Given the description of an element on the screen output the (x, y) to click on. 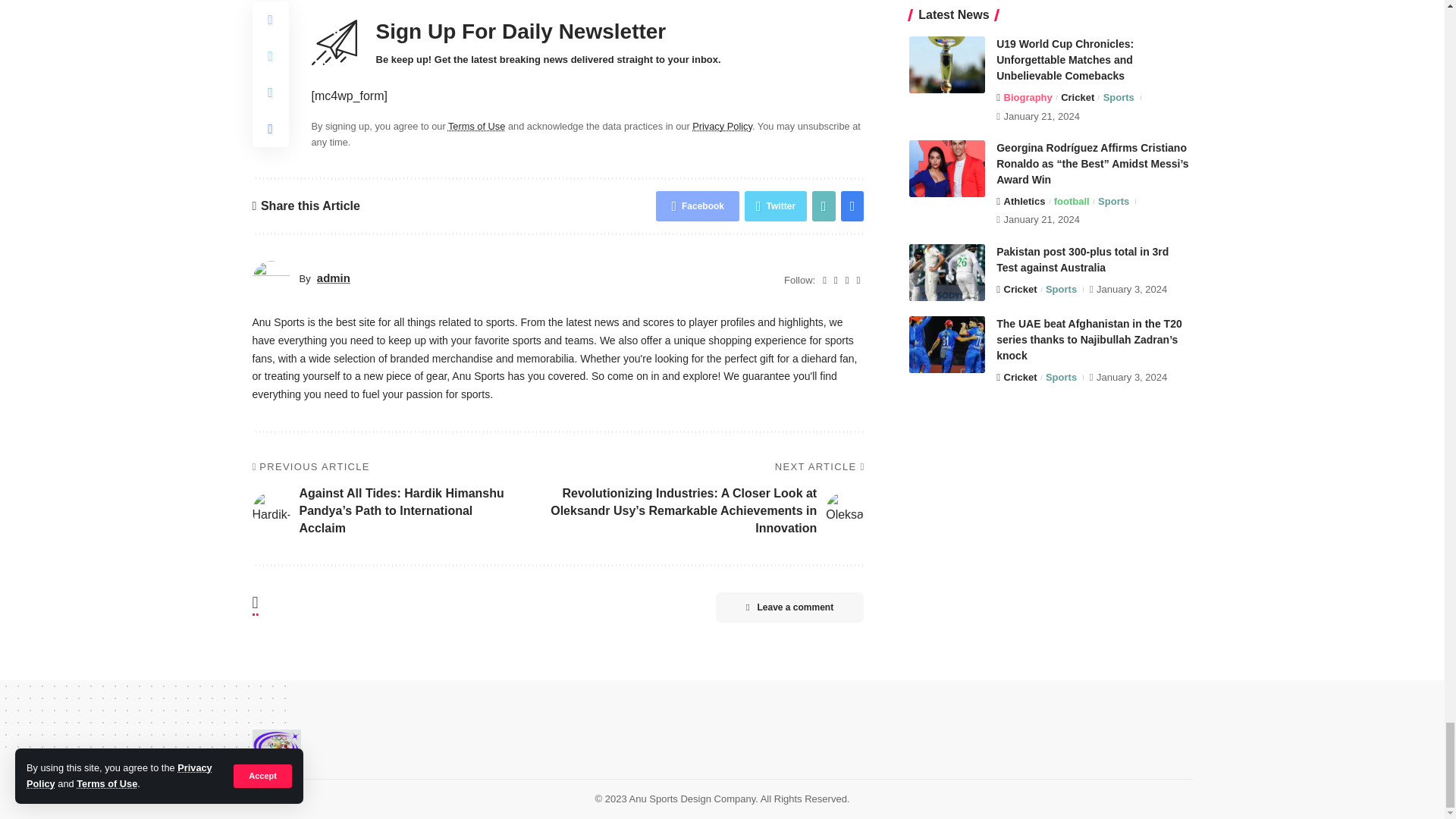
Anu Sports (276, 748)
